Given the description of an element on the screen output the (x, y) to click on. 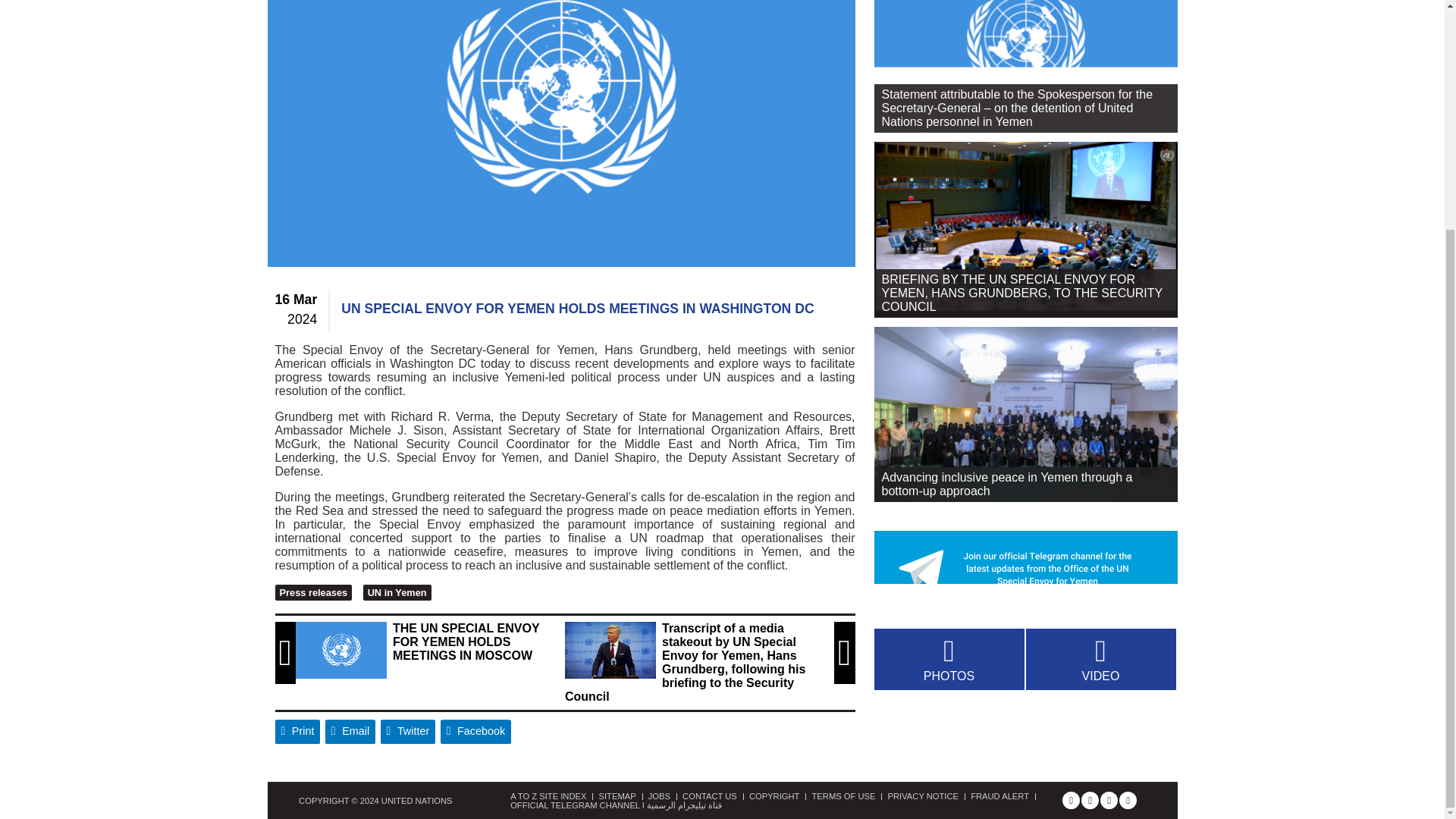
THE UN SPECIAL ENVOY FOR YEMEN HOLDS MEETINGS IN MOSCOW (341, 649)
Email (349, 731)
Facebook (476, 731)
Print (297, 731)
Twitter (407, 731)
